Given the description of an element on the screen output the (x, y) to click on. 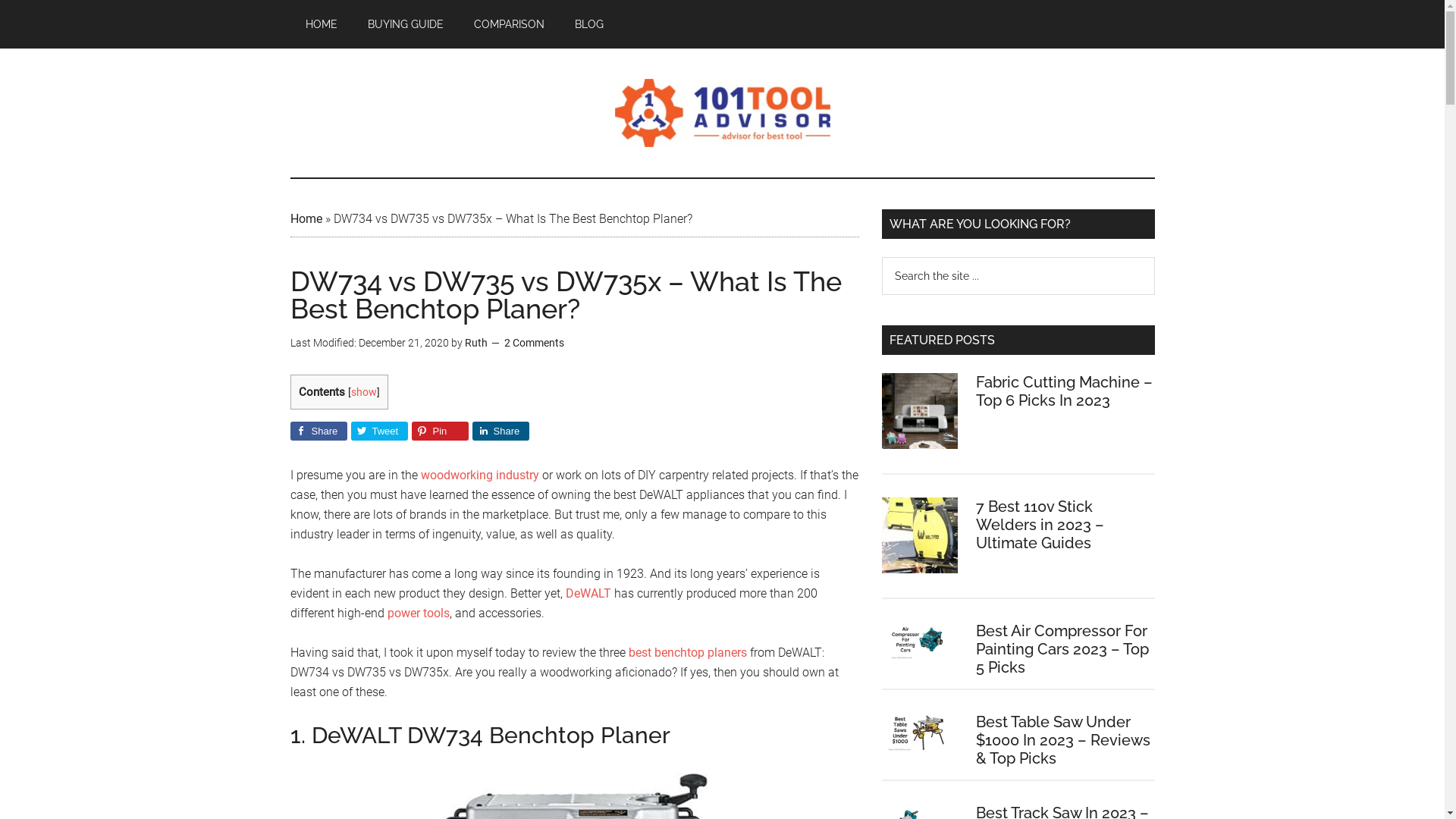
BUYING GUIDE Element type: text (404, 24)
Share Element type: text (499, 430)
woodworking industry Element type: text (479, 474)
show Element type: text (363, 391)
Home Element type: text (305, 218)
DeWALT Element type: text (588, 593)
HOME Element type: text (320, 24)
best benchtop planers Element type: text (686, 652)
2 Comments Element type: text (533, 342)
Pin Element type: text (439, 430)
Search Element type: text (1154, 256)
Ruth Element type: text (475, 342)
power tools Element type: text (417, 612)
BLOG Element type: text (588, 24)
Share Element type: text (317, 430)
COMPARISON Element type: text (508, 24)
Tweet Element type: text (378, 430)
101ToolAdvisor Element type: text (721, 112)
